Given the description of an element on the screen output the (x, y) to click on. 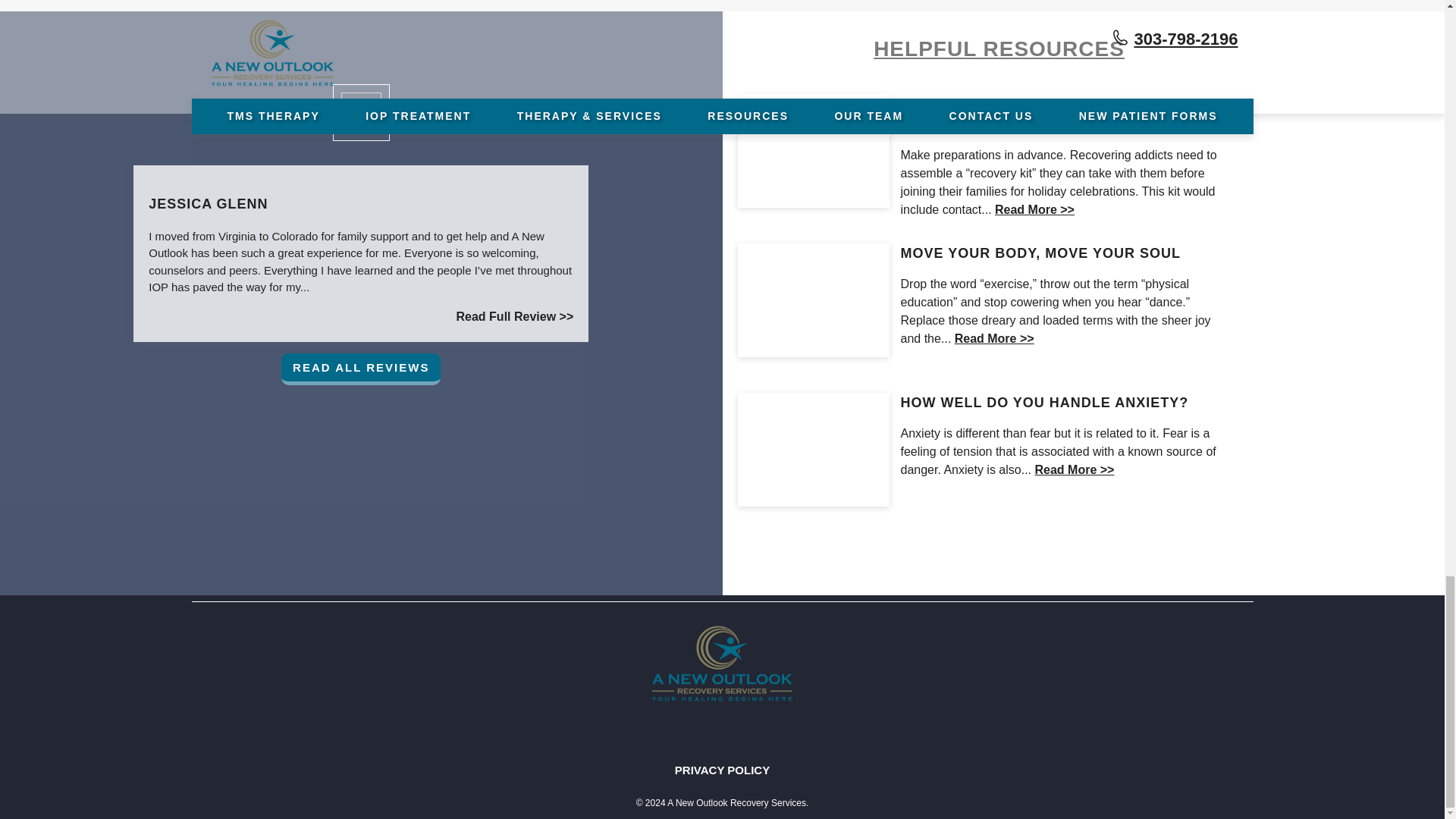
READ ALL REVIEWS (361, 368)
READ ALL REVIEWS (361, 368)
HELPFUL RESOURCES (998, 48)
PRIVACY POLICY (721, 769)
